Given the description of an element on the screen output the (x, y) to click on. 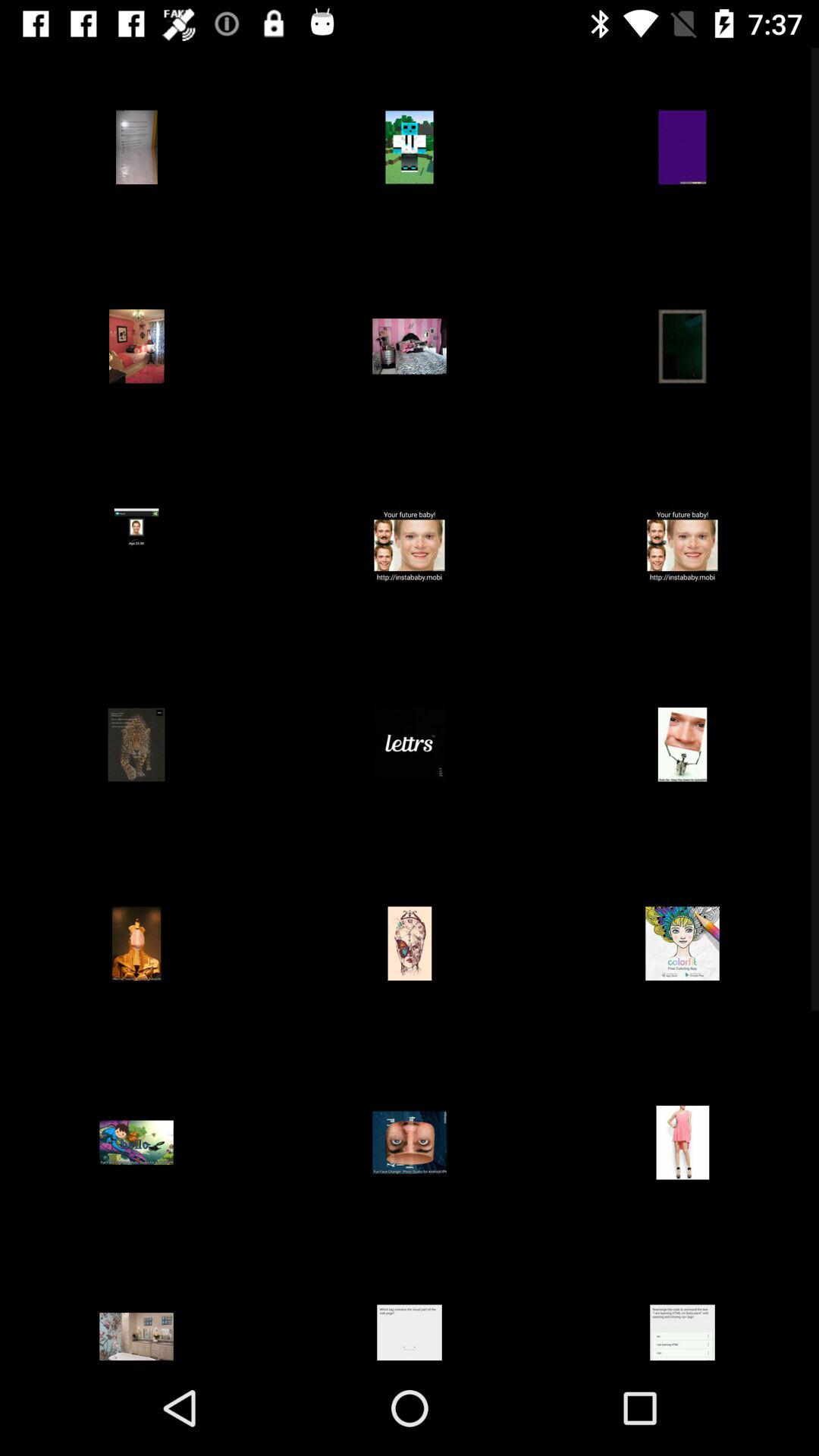
select the second image which is in the last row (409, 1300)
